Given the description of an element on the screen output the (x, y) to click on. 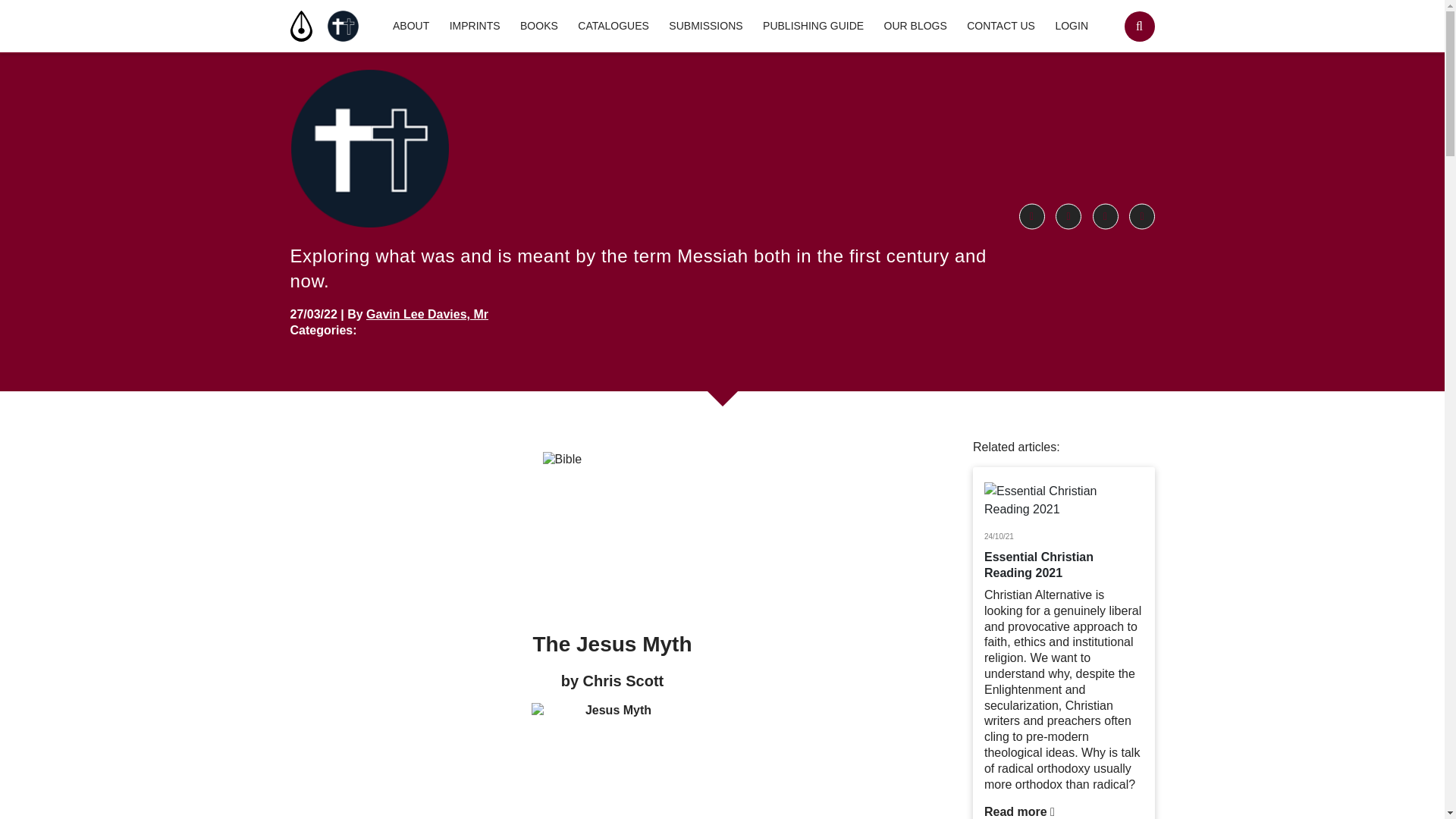
CATALOGUES (613, 26)
IMPRINTS (474, 26)
PUBLISHING GUIDE (812, 26)
CONTACT US (1000, 26)
SUBMISSIONS (705, 26)
OUR BLOGS (915, 26)
